Given the description of an element on the screen output the (x, y) to click on. 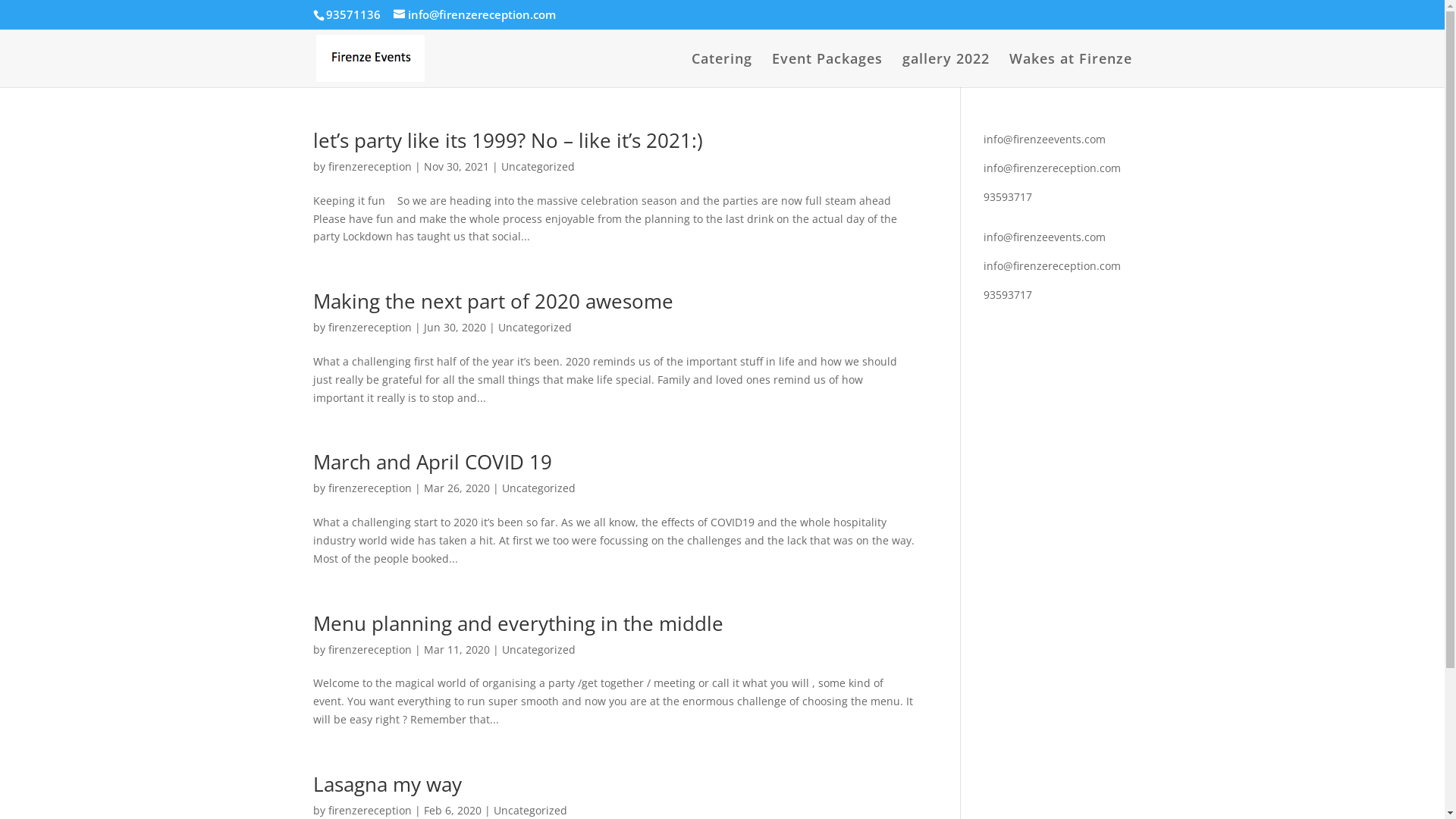
March and April COVID 19 Element type: text (431, 461)
firenzereception Element type: text (369, 810)
firenzereception Element type: text (369, 327)
firenzereception Element type: text (369, 487)
firenzereception Element type: text (369, 166)
firenzereception Element type: text (369, 649)
Catering Element type: text (721, 70)
Menu planning and everything in the middle Element type: text (517, 623)
gallery 2022 Element type: text (945, 70)
Uncategorized Element type: text (534, 327)
Uncategorized Element type: text (538, 649)
Making the next part of 2020 awesome Element type: text (492, 300)
Lasagna my way Element type: text (386, 783)
Uncategorized Element type: text (529, 810)
info@firenzereception.com Element type: text (473, 13)
Uncategorized Element type: text (537, 166)
Wakes at Firenze Element type: text (1069, 70)
Event Packages Element type: text (826, 70)
Uncategorized Element type: text (538, 487)
